Given the description of an element on the screen output the (x, y) to click on. 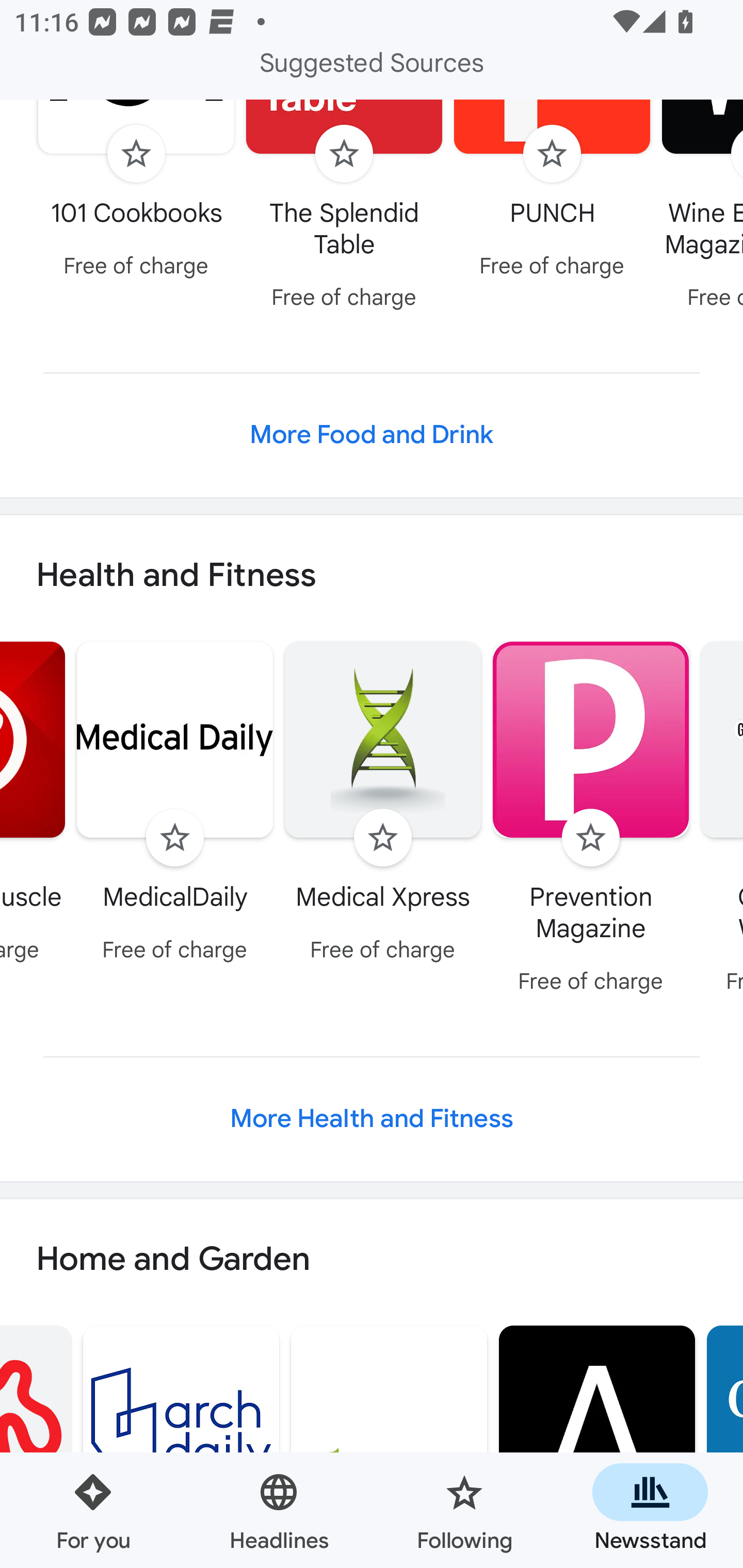
Follow 101 Cookbooks Free of charge (136, 194)
Follow The Splendid Table Free of charge (344, 209)
Follow PUNCH Free of charge (552, 194)
Follow (135, 153)
Follow (343, 153)
Follow (552, 153)
More Food and Drink (371, 435)
Health and Fitness (371, 575)
Follow MedicalDaily Free of charge (175, 804)
Follow Medical Xpress Free of charge (383, 804)
Follow Prevention Magazine Free of charge (590, 820)
Follow (174, 838)
Follow (382, 838)
Follow (590, 838)
More Health and Fitness (371, 1118)
Home and Garden (371, 1259)
For you (92, 1509)
Headlines (278, 1509)
Following (464, 1509)
Newsstand (650, 1509)
